Given the description of an element on the screen output the (x, y) to click on. 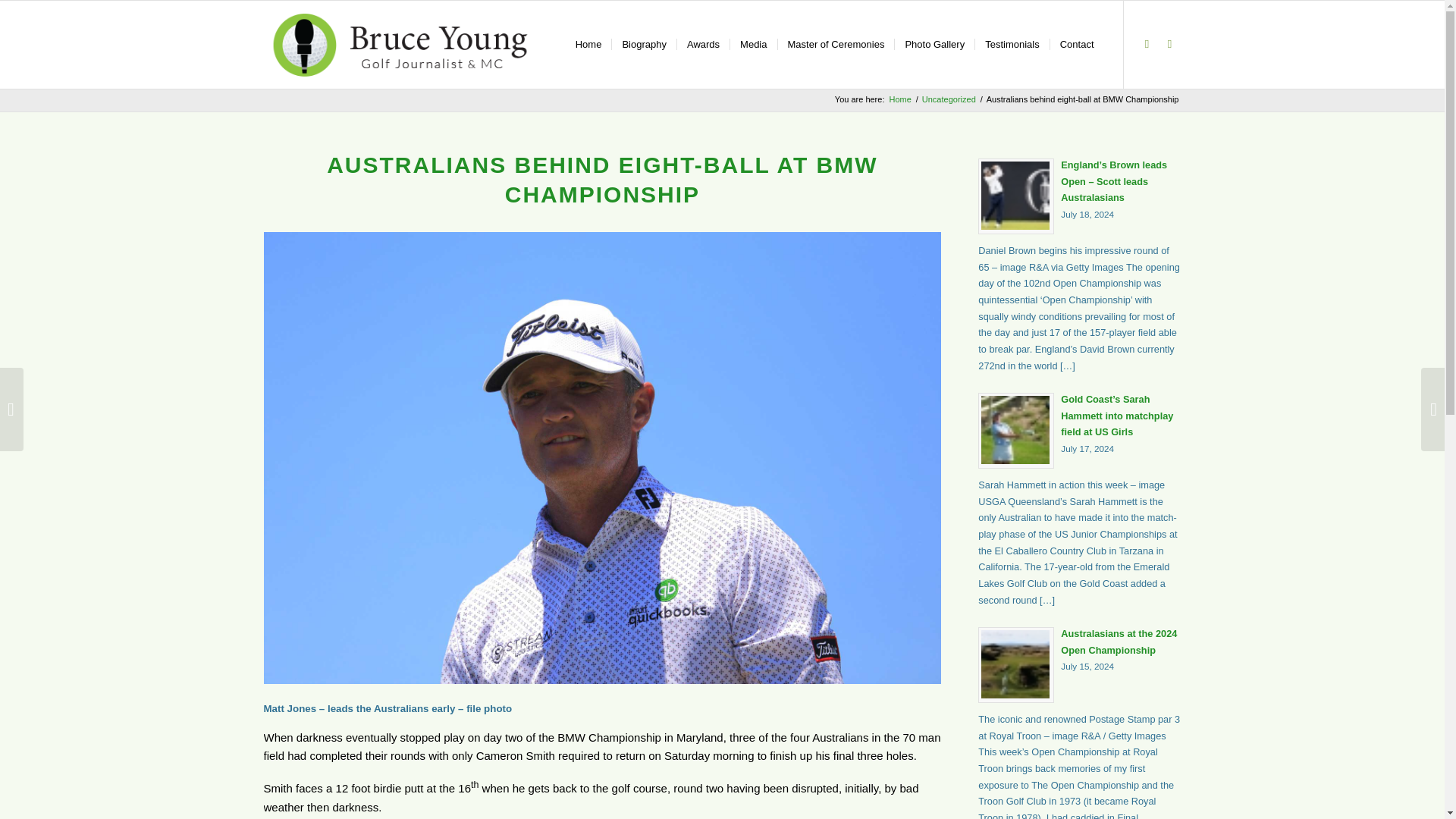
AUSTRALIANS BEHIND EIGHT-BALL AT BMW CHAMPIONSHIP (601, 179)
Youtube (1079, 663)
Bruce Young Media (1146, 43)
Home (899, 99)
Master of Ceremonies (899, 99)
LinkedIn (834, 44)
Photo Gallery (1169, 43)
Uncategorized (933, 44)
